Given the description of an element on the screen output the (x, y) to click on. 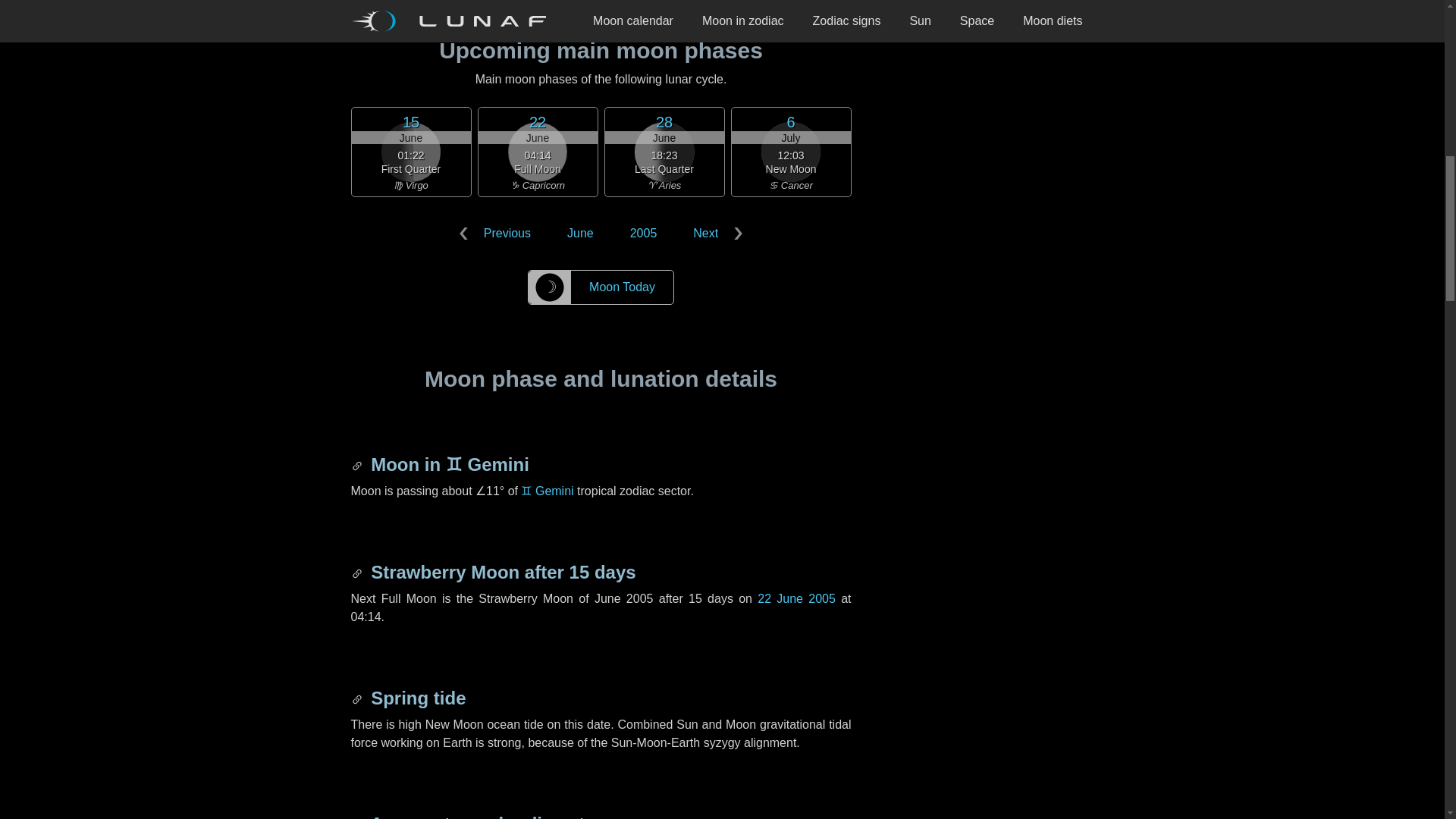
Next (714, 233)
June (579, 233)
22 June 2005 (796, 598)
Previous (497, 233)
2005 (643, 233)
